Given the description of an element on the screen output the (x, y) to click on. 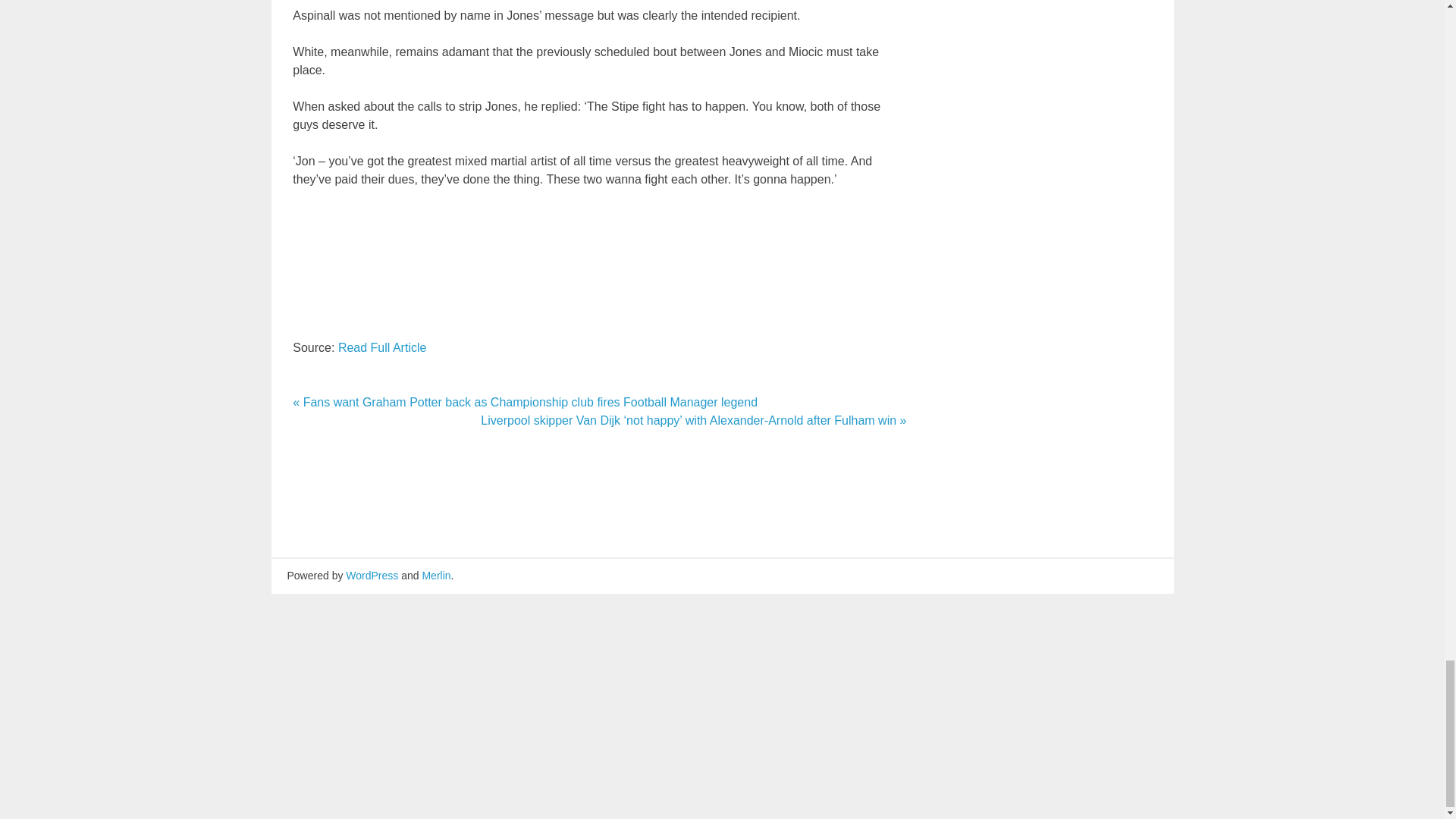
Merlin WordPress Theme (435, 575)
WordPress (371, 575)
Read Full Article (381, 347)
